Given the description of an element on the screen output the (x, y) to click on. 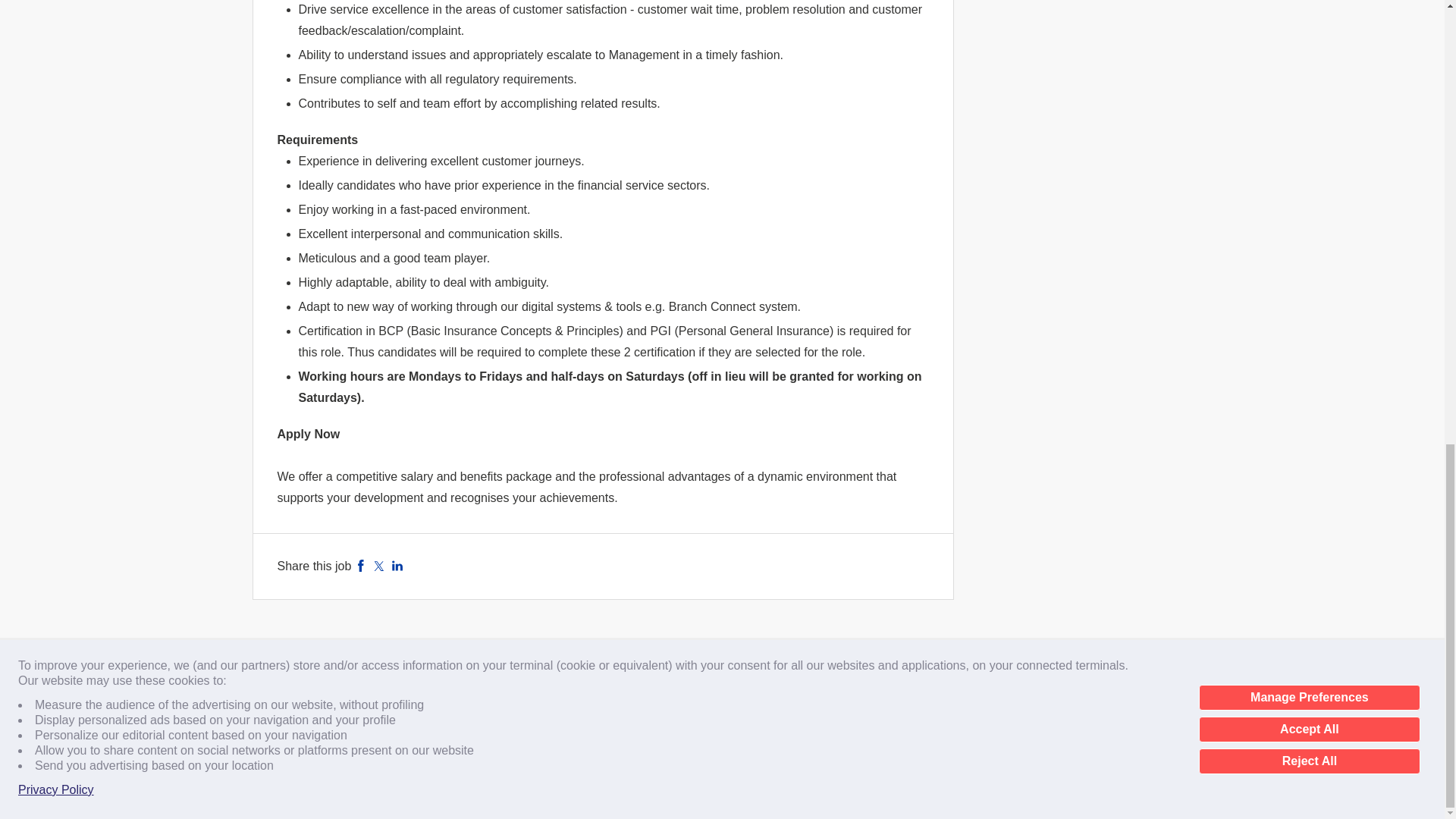
About (290, 693)
LinkedIn (397, 564)
Facebook (360, 564)
Contact Us (357, 693)
Twitter (378, 564)
